Given the description of an element on the screen output the (x, y) to click on. 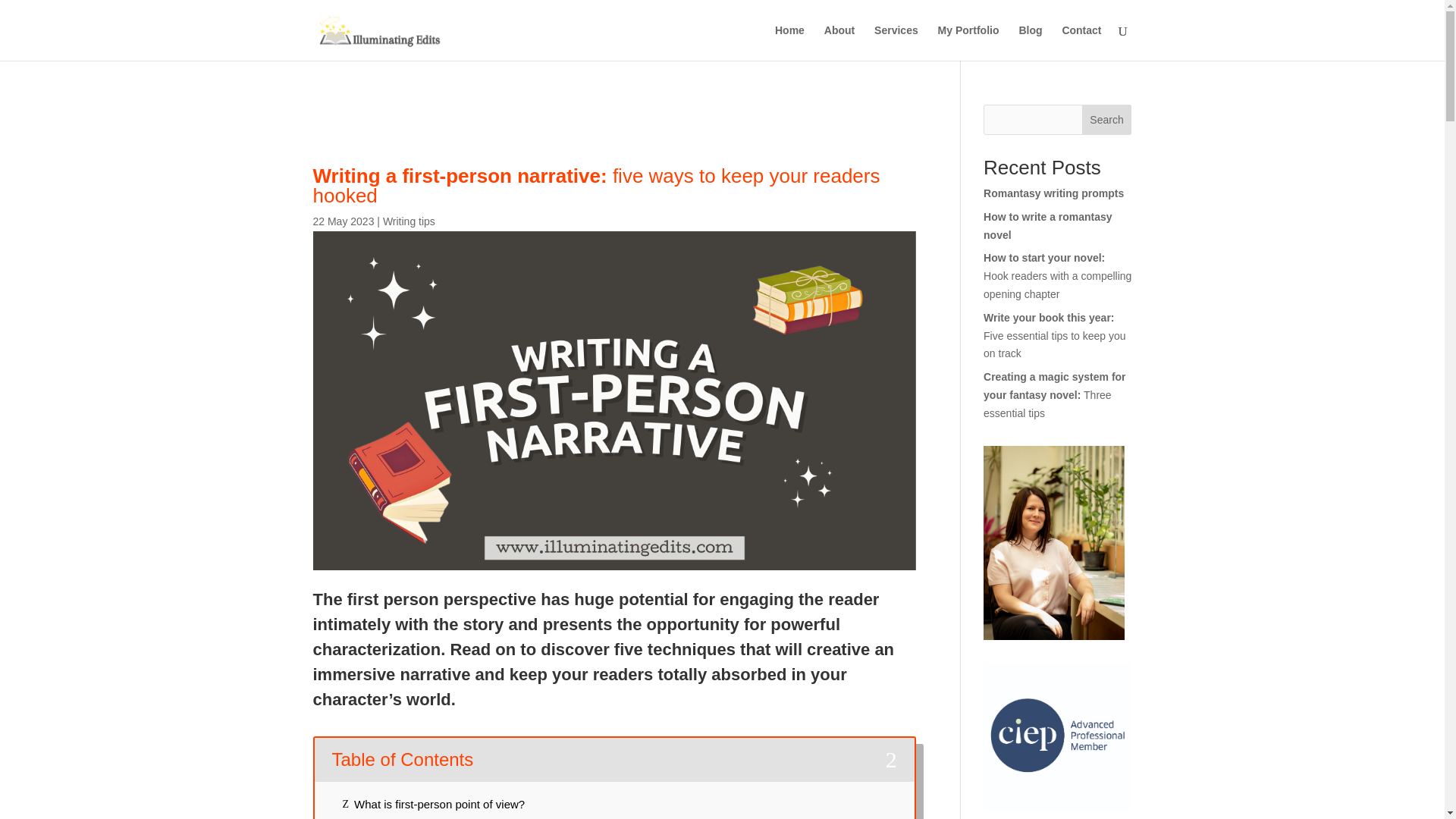
Writing tips (408, 221)
What is first-person point of view? (438, 804)
Search (1106, 119)
My Portfolio (967, 42)
Romantasy writing prompts (1054, 193)
